Given the description of an element on the screen output the (x, y) to click on. 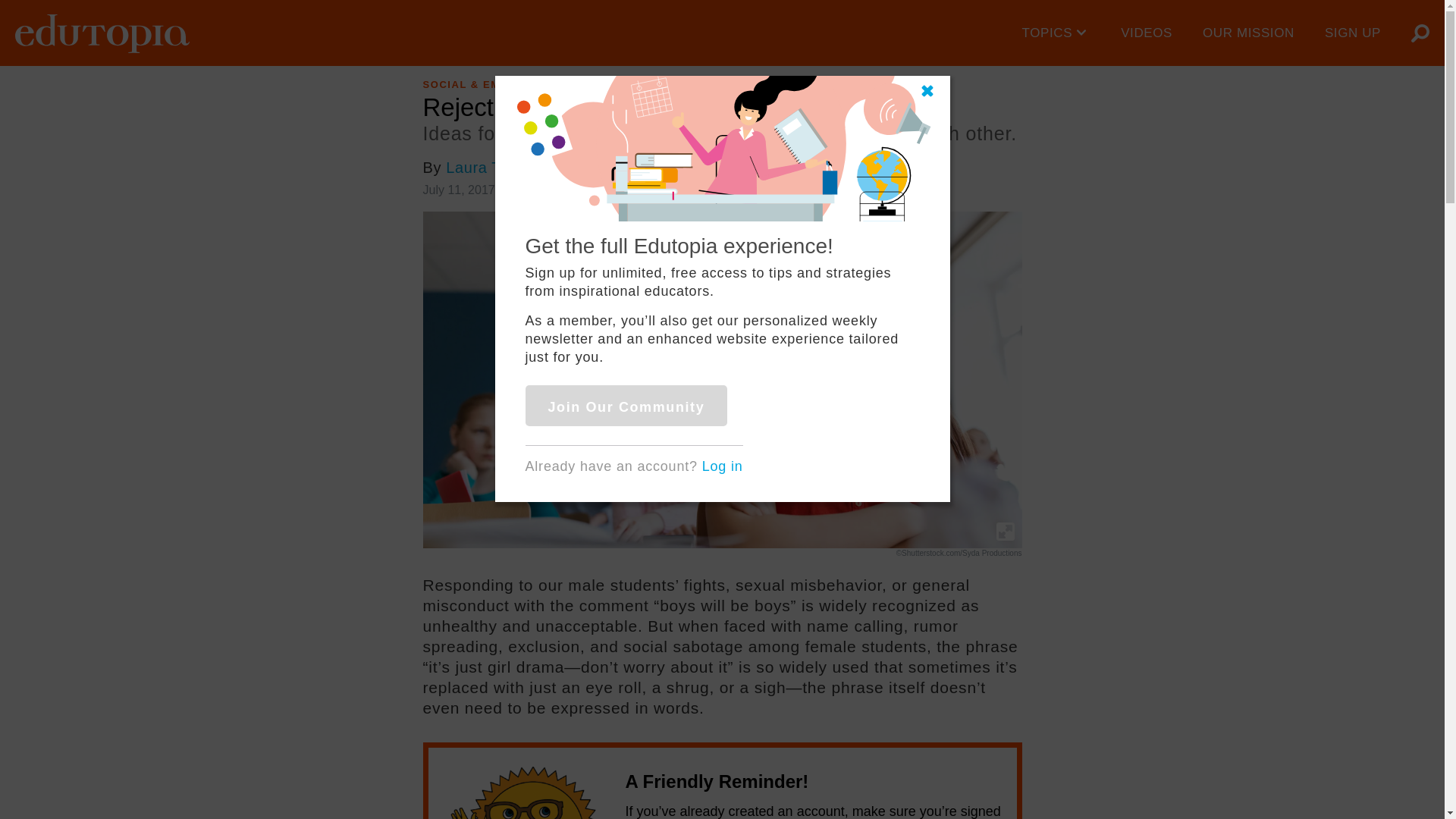
SIGN UP (1352, 33)
Edutopia (101, 33)
TOPICS (1056, 33)
OUR MISSION (1248, 33)
Laura Thomas (496, 167)
Edutopia (101, 33)
VIDEOS (1146, 33)
